Given the description of an element on the screen output the (x, y) to click on. 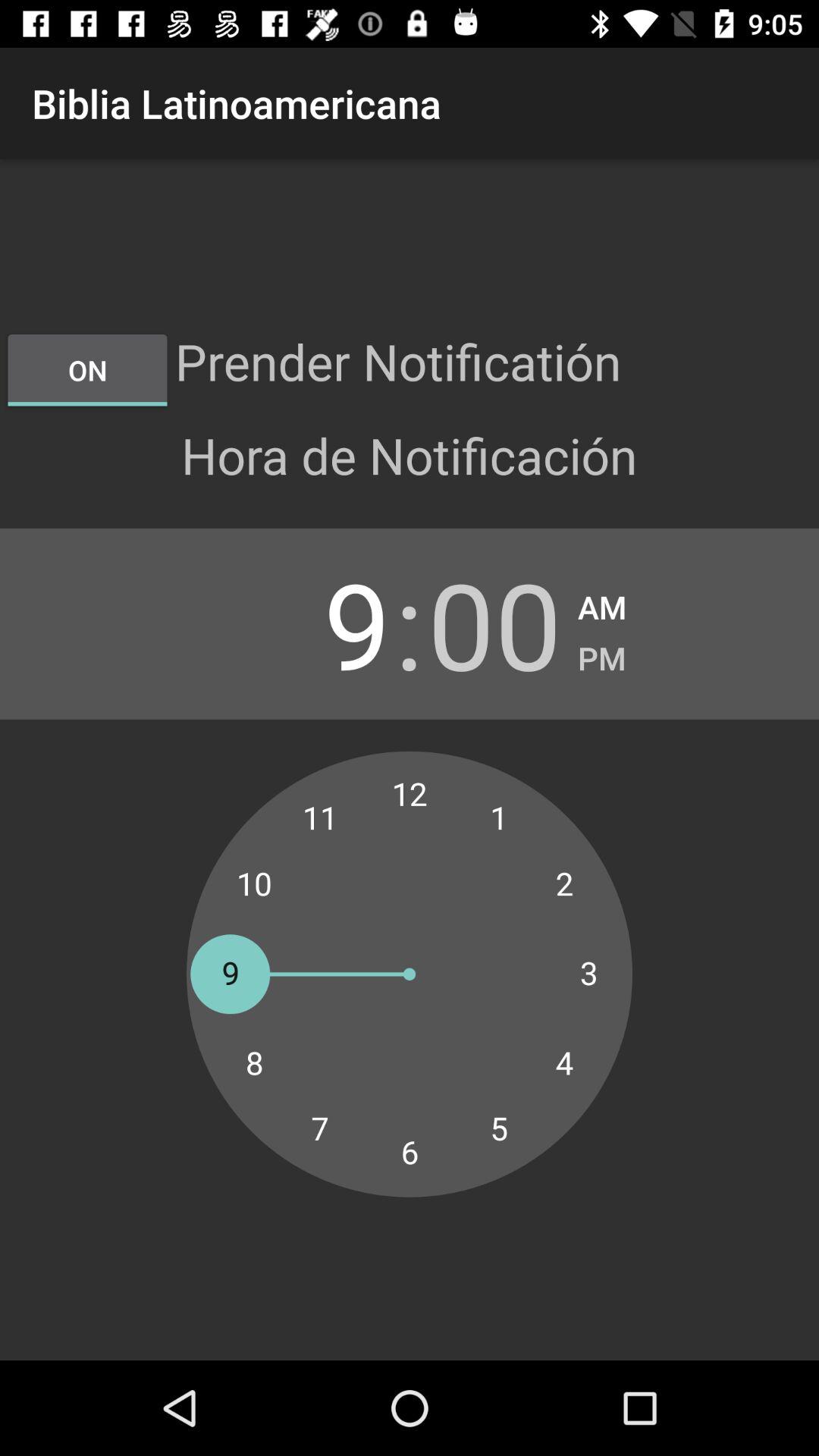
scroll until on (87, 370)
